Given the description of an element on the screen output the (x, y) to click on. 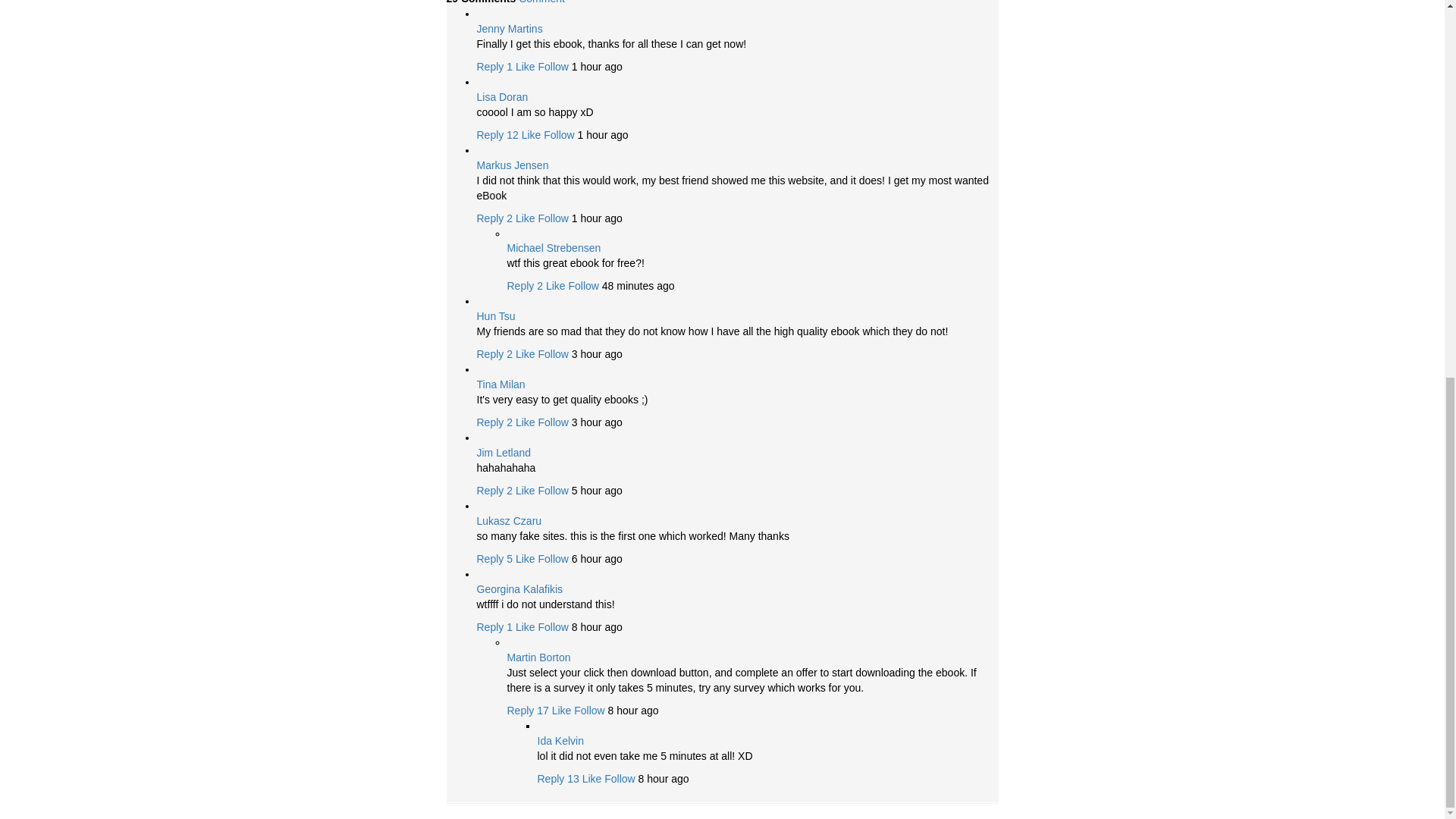
Like (525, 218)
Hun Tsu (495, 316)
12 (512, 134)
Lisa Doran (501, 96)
Comment (541, 2)
Follow (552, 66)
Reply (489, 218)
Reply (489, 134)
Reply (489, 66)
Like (531, 134)
